Given the description of an element on the screen output the (x, y) to click on. 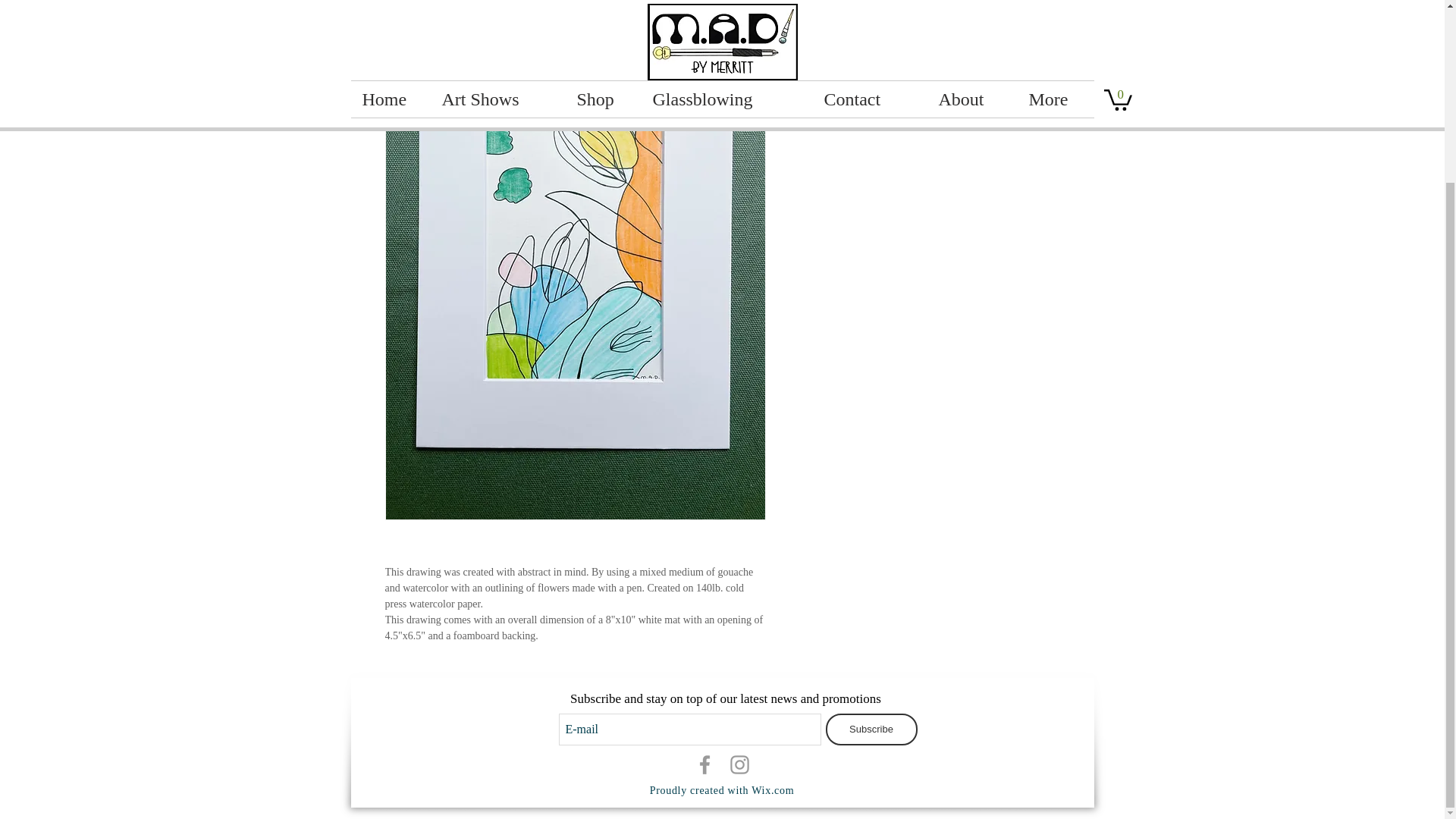
Out of Stock (924, 101)
Subscribe (871, 729)
Wix.com (772, 790)
